Given the description of an element on the screen output the (x, y) to click on. 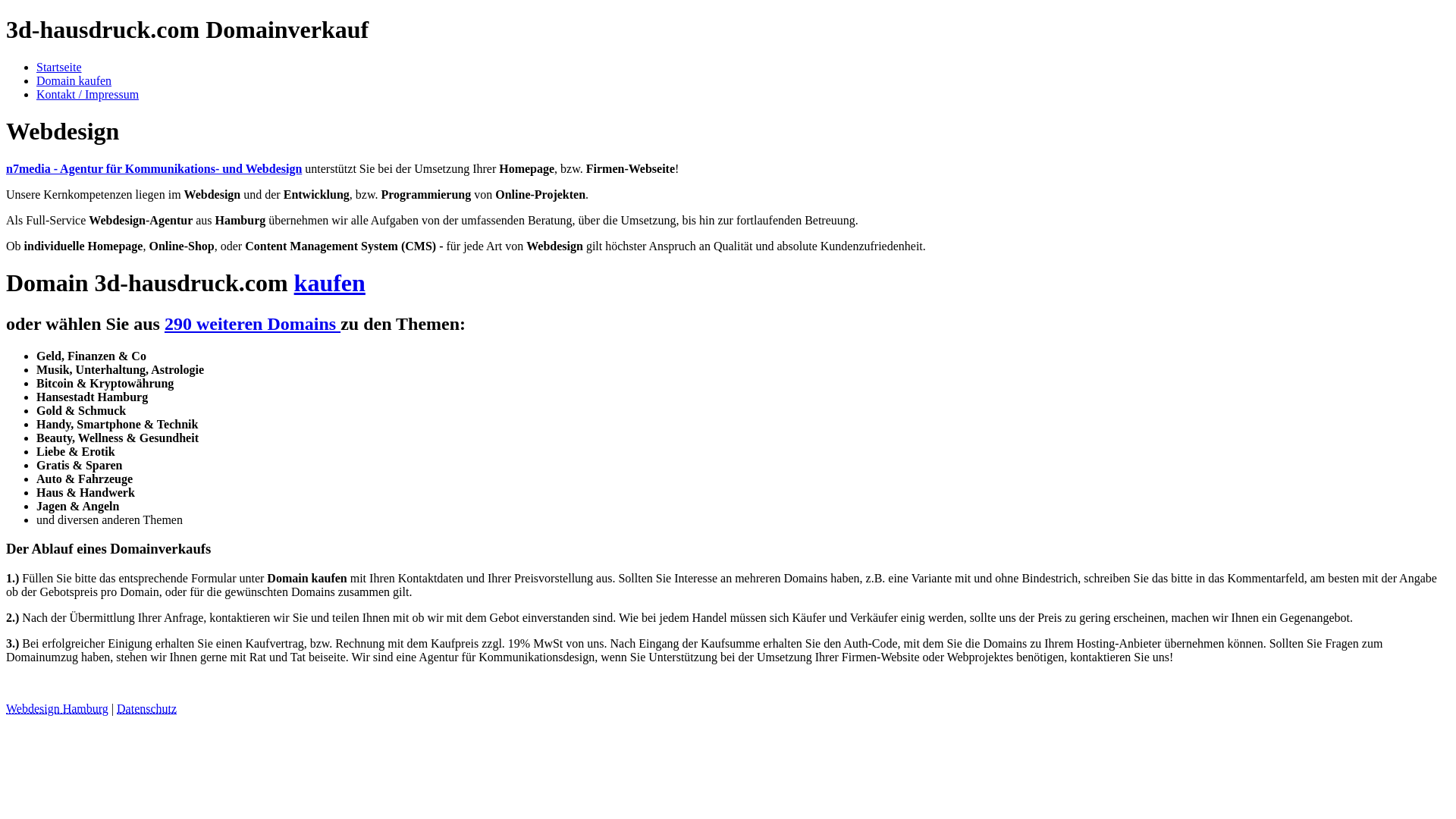
Kontakt / Impressum Element type: text (87, 93)
Startseite Element type: text (58, 66)
kaufen Element type: text (329, 282)
Datenschutz Element type: text (146, 708)
Webdesign Hamburg Element type: text (57, 708)
Domain kaufen Element type: text (73, 80)
290 weiteren Domains Element type: text (252, 323)
